Given the description of an element on the screen output the (x, y) to click on. 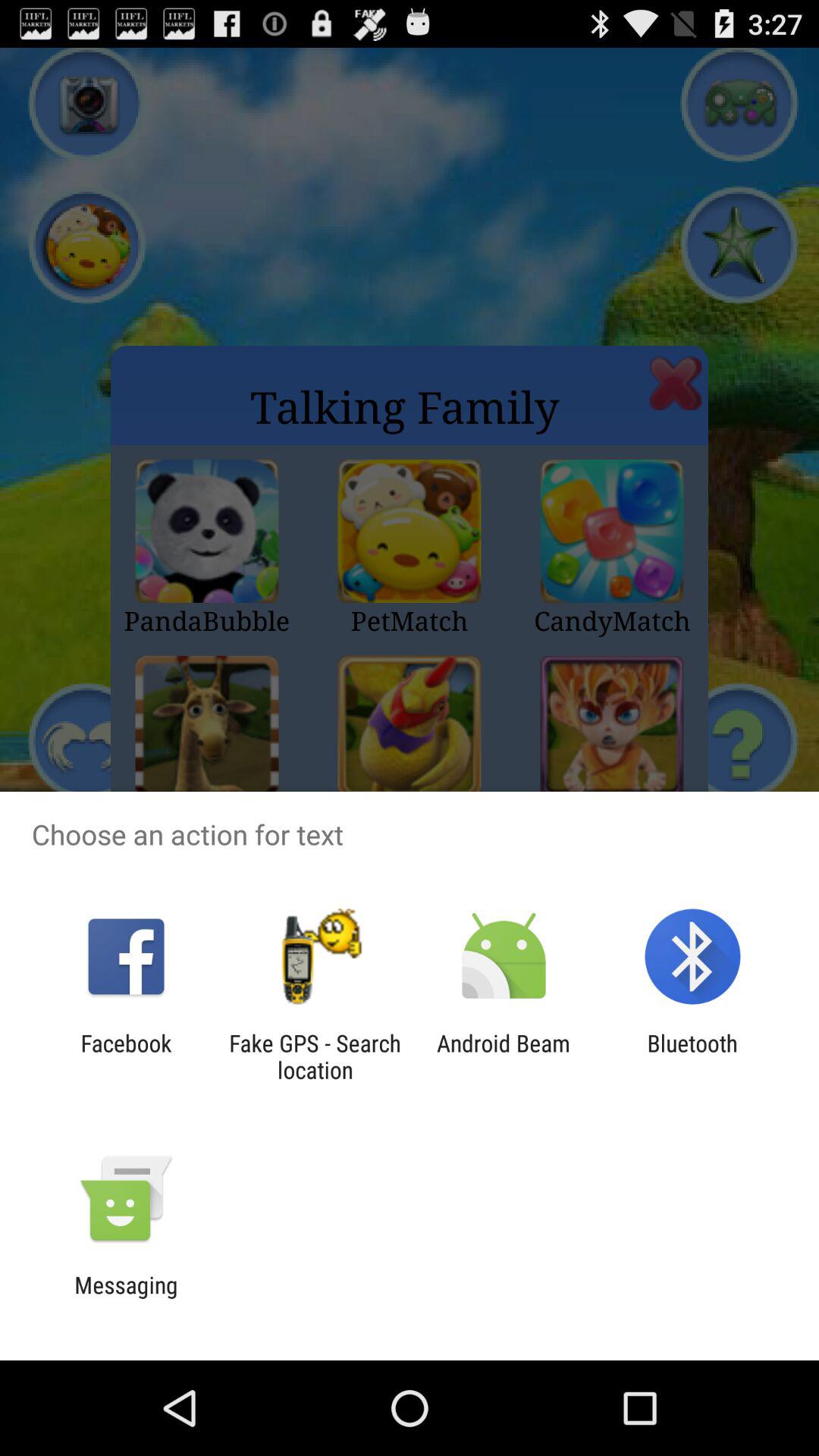
press app next to facebook app (314, 1056)
